Given the description of an element on the screen output the (x, y) to click on. 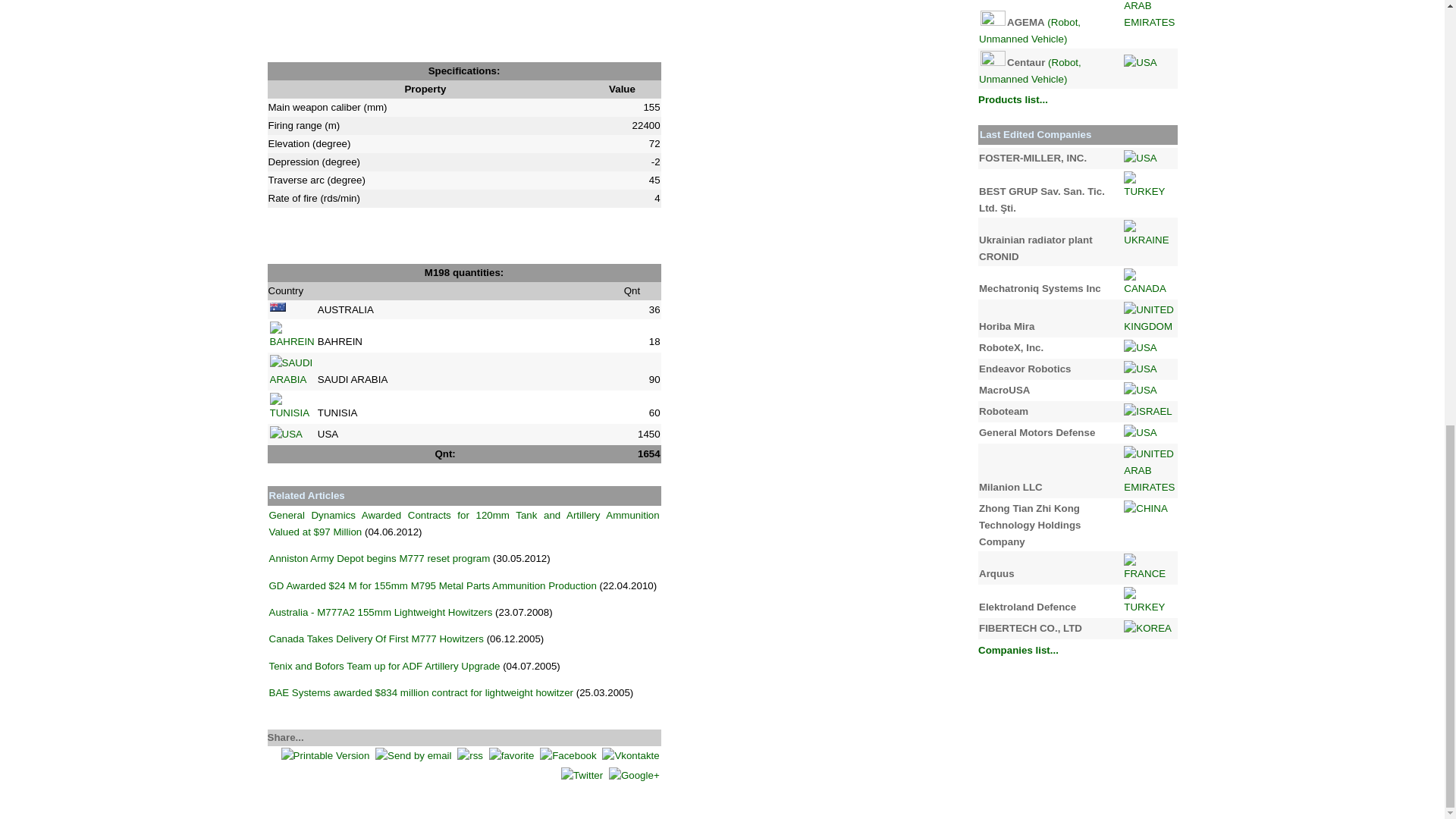
AUSTRALIA (277, 307)
Send by email (413, 755)
SAUDI ARABIA (291, 371)
USA (285, 434)
BAHREIN (291, 335)
TUNISIA (291, 407)
Printable Version (325, 755)
